Given the description of an element on the screen output the (x, y) to click on. 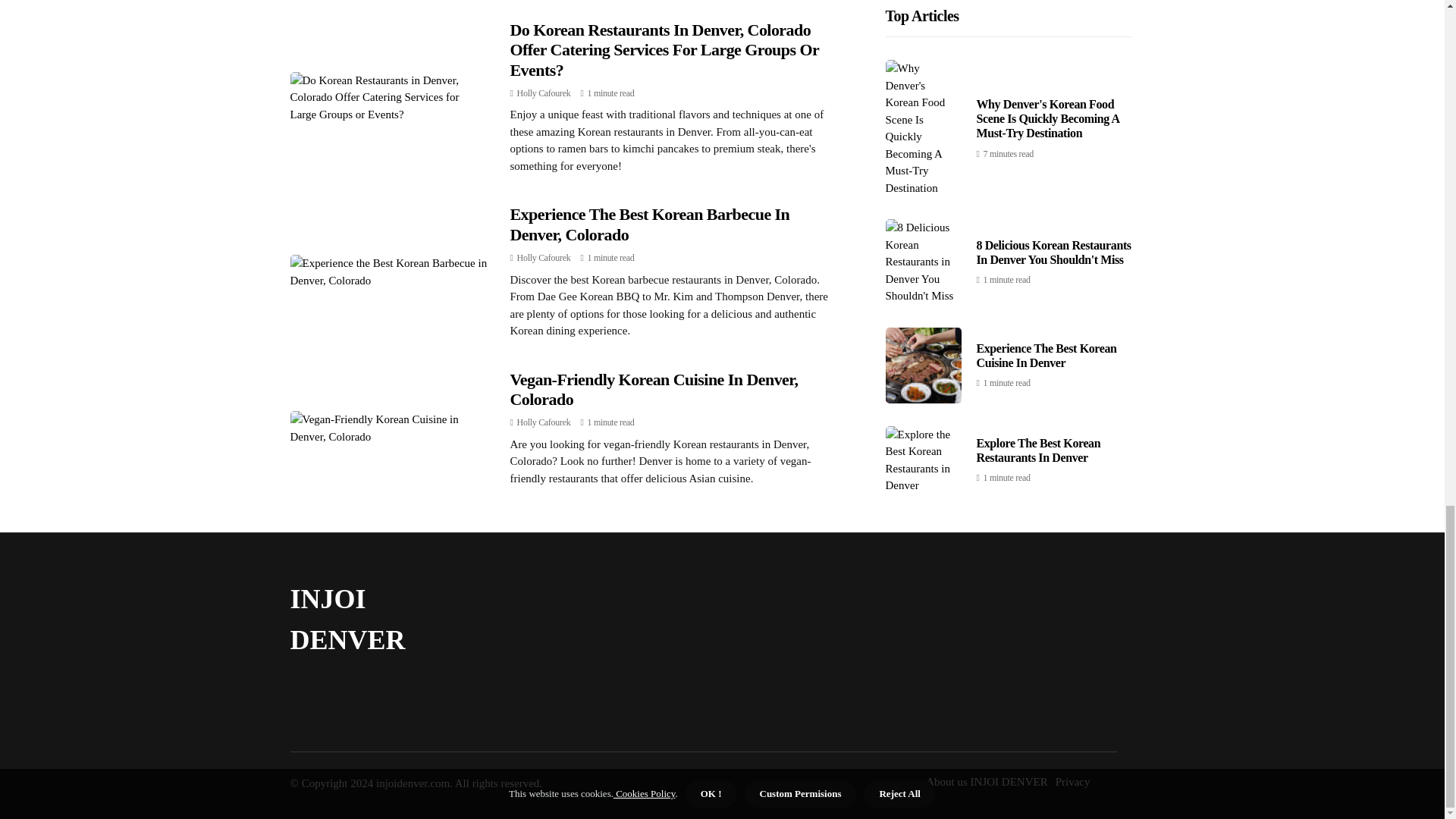
Experience The Best Korean Barbecue In Denver, Colorado (649, 223)
Posts by Holly Cafourek (543, 92)
Holly Cafourek (543, 257)
Posts by Holly Cafourek (543, 257)
Posts by Holly Cafourek (543, 421)
Holly Cafourek (543, 92)
Holly Cafourek (543, 421)
Vegan-Friendly Korean Cuisine In Denver, Colorado (653, 389)
